Given the description of an element on the screen output the (x, y) to click on. 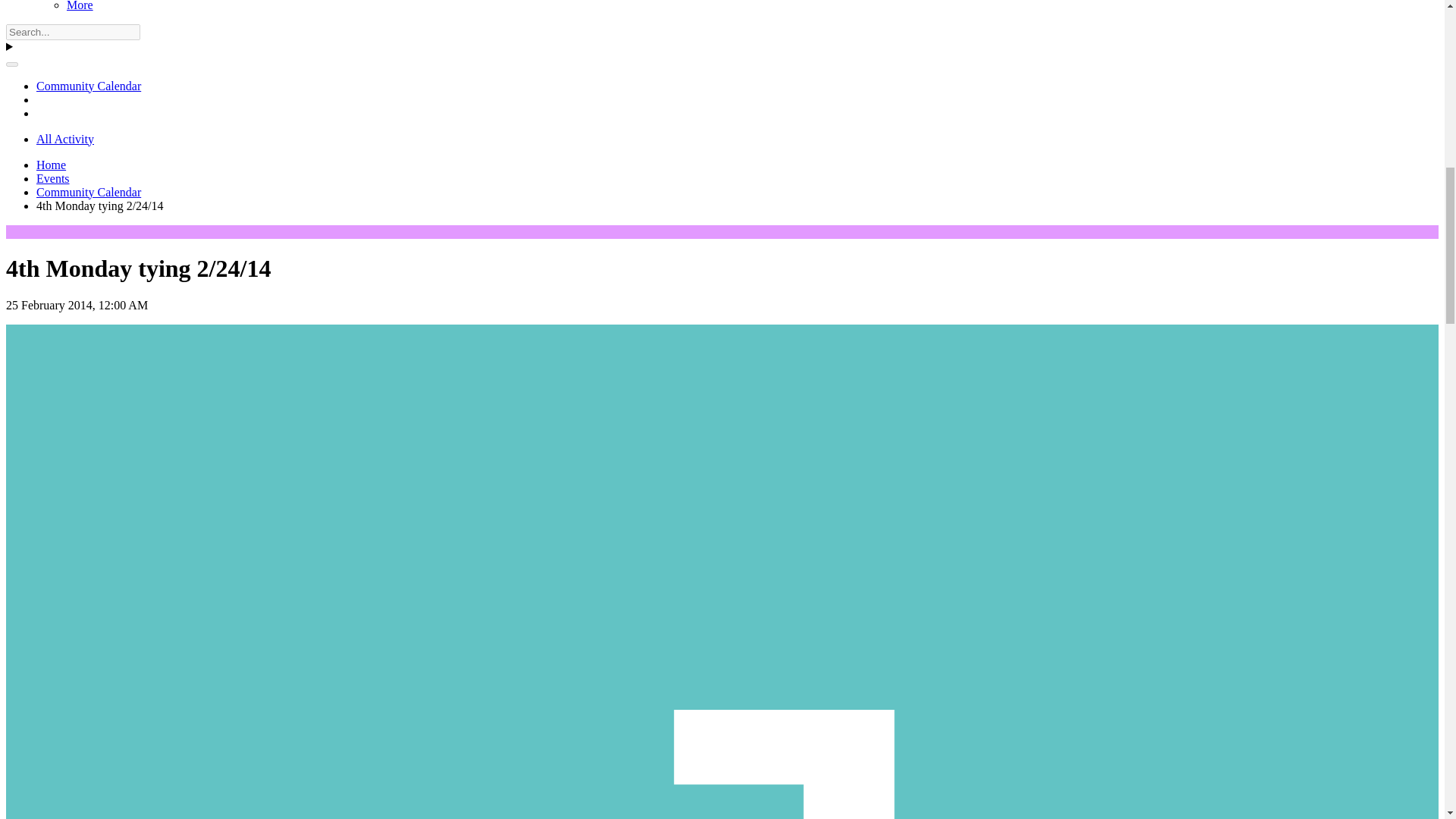
Home (50, 164)
